Given the description of an element on the screen output the (x, y) to click on. 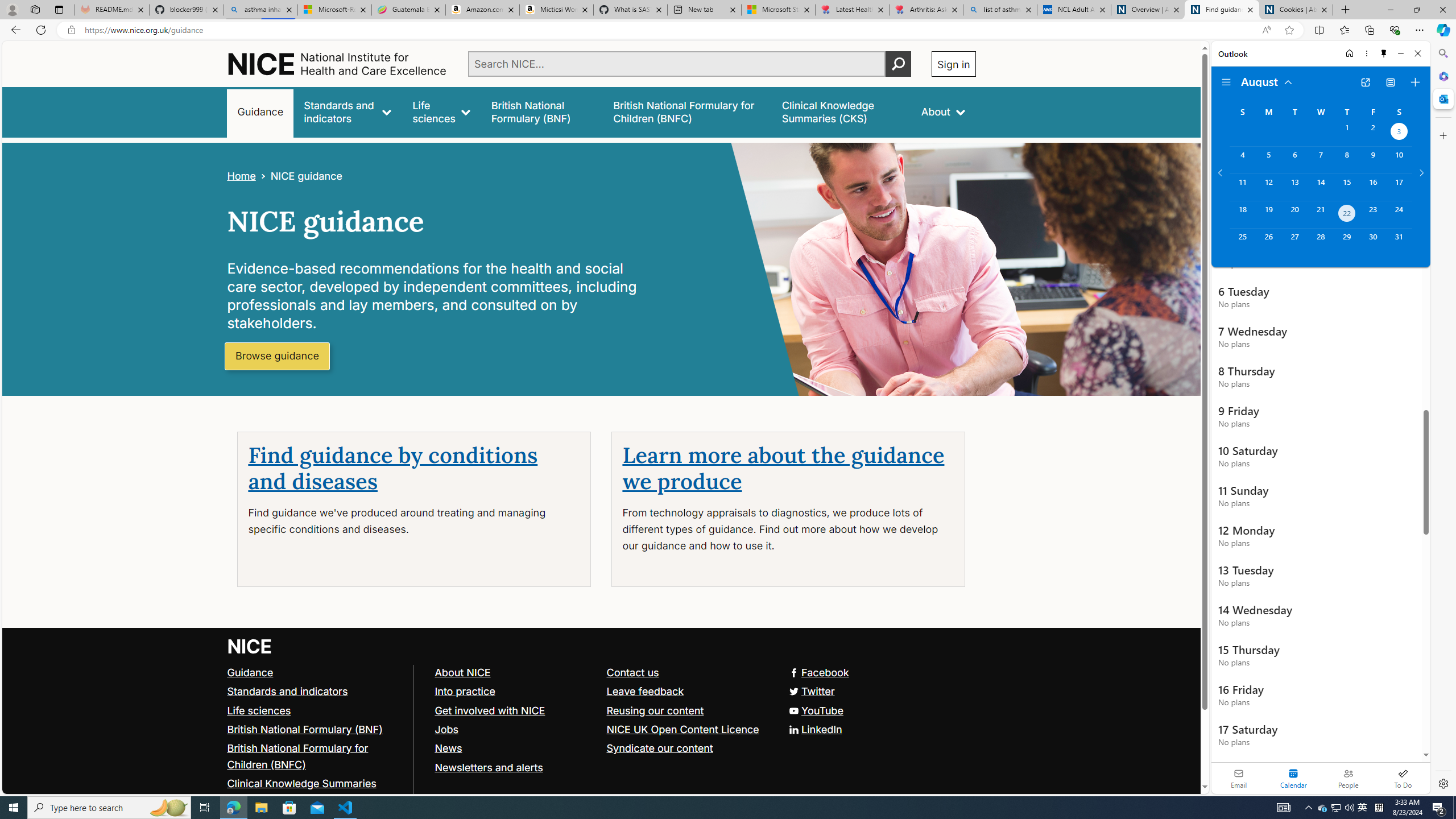
Saturday, August 10, 2024.  (1399, 159)
YouTube (815, 710)
Guidance (315, 672)
Contact us (686, 672)
Arthritis: Ask Health Professionals (925, 9)
Monday, August 19, 2024.  (1268, 214)
Tuesday, August 27, 2024.  (1294, 241)
Jobs (514, 729)
Wednesday, August 21, 2024.  (1320, 214)
